Given the description of an element on the screen output the (x, y) to click on. 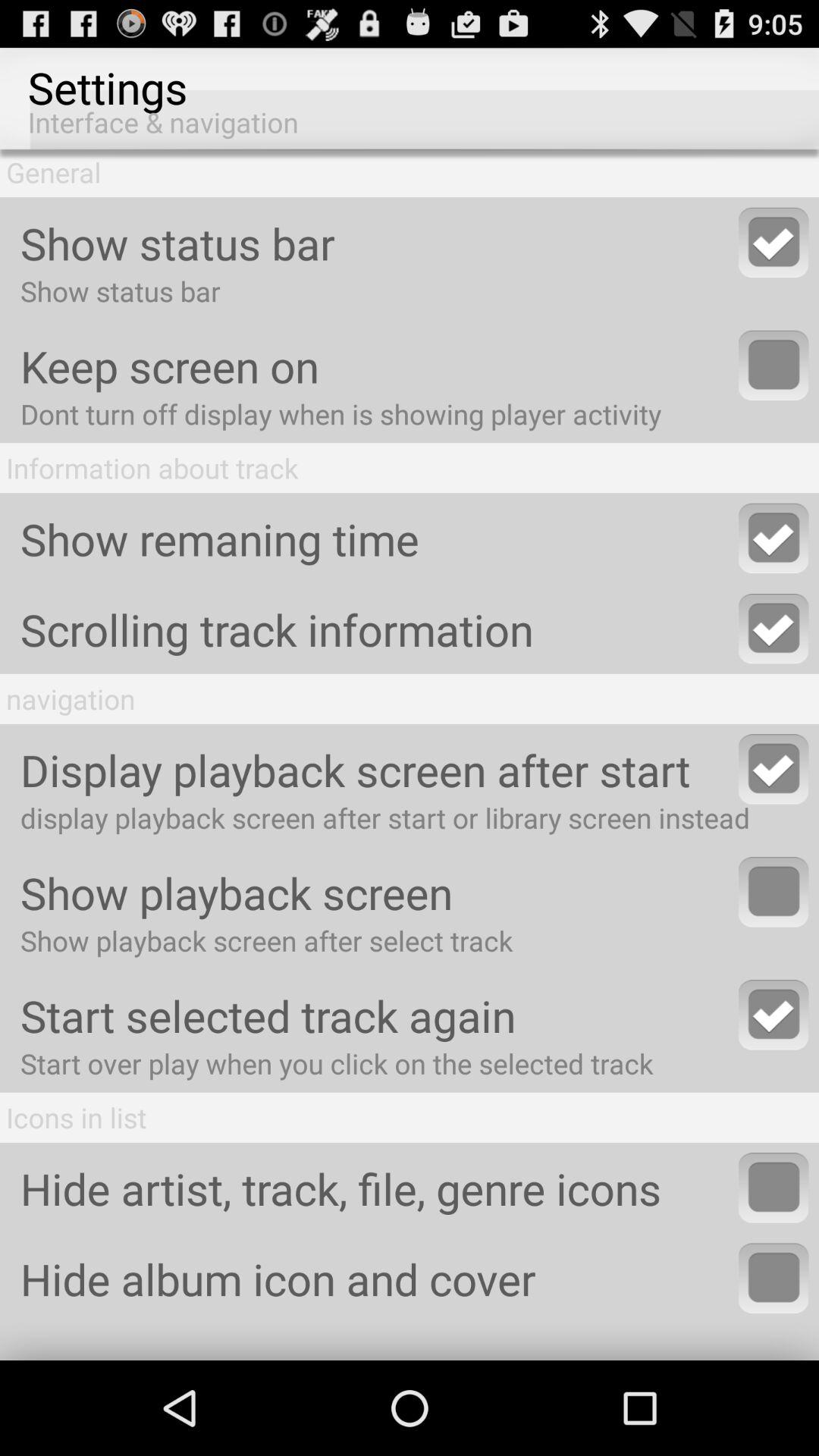
hide icons (773, 1187)
